Given the description of an element on the screen output the (x, y) to click on. 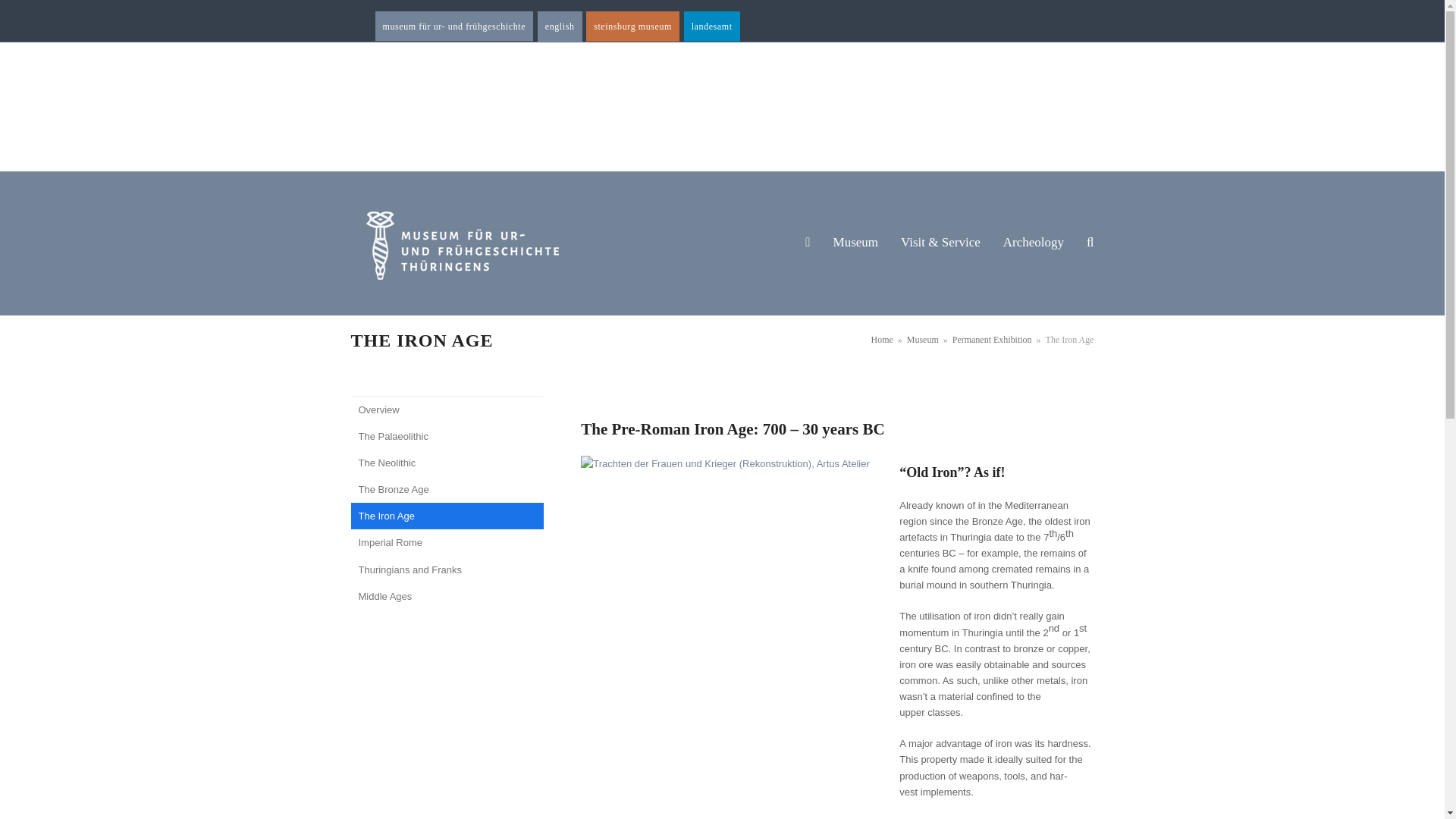
Middle Ages (446, 596)
Archeology (1033, 243)
landesamt (711, 26)
Overview (446, 409)
Imperial Rome (446, 542)
Home (881, 339)
Thuringian Museum for Pre-and Early History in Weimar (559, 26)
The Iron Age (446, 515)
The Palaeolithic (446, 436)
Permanent Exhibition (992, 339)
